Given the description of an element on the screen output the (x, y) to click on. 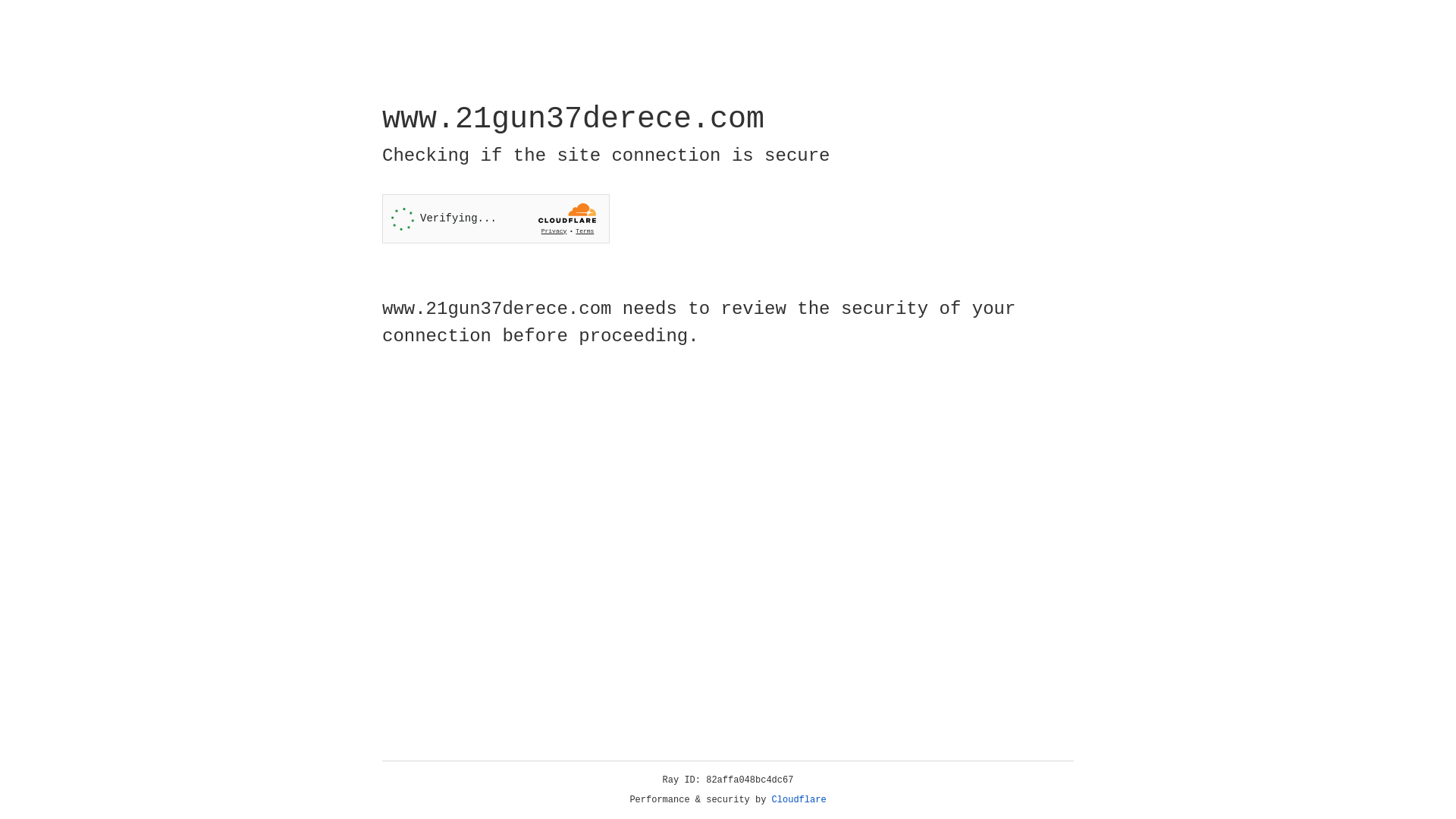
Widget containing a Cloudflare security challenge Element type: hover (495, 218)
Cloudflare Element type: text (798, 799)
